Given the description of an element on the screen output the (x, y) to click on. 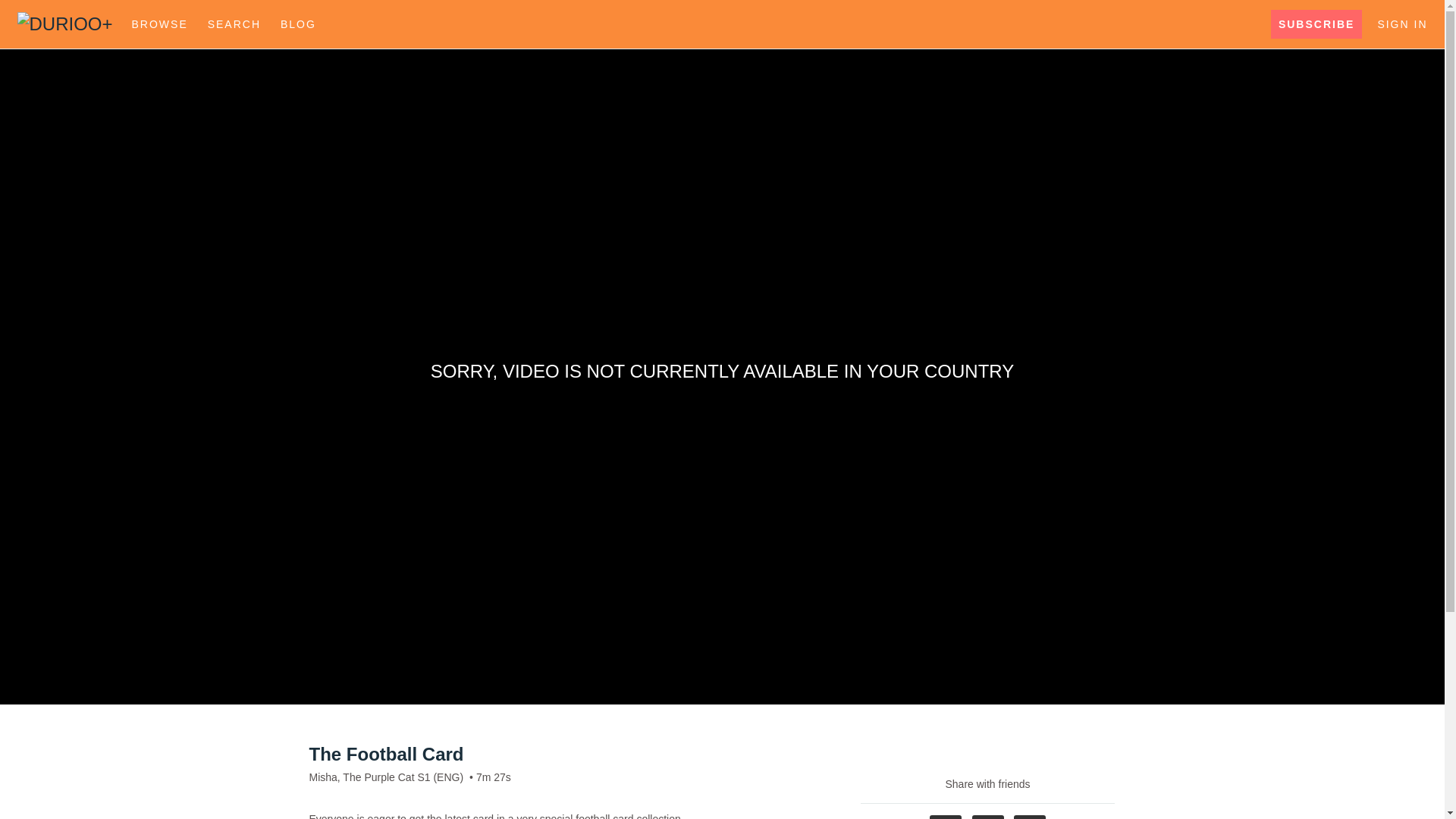
Facebook (945, 816)
Email (1029, 816)
SEARCH (236, 24)
Twitter (988, 816)
SUBSCRIBE (1316, 23)
SIGN IN (1401, 24)
Skip to main content (48, 7)
BROWSE (161, 24)
BLOG (298, 24)
